Given the description of an element on the screen output the (x, y) to click on. 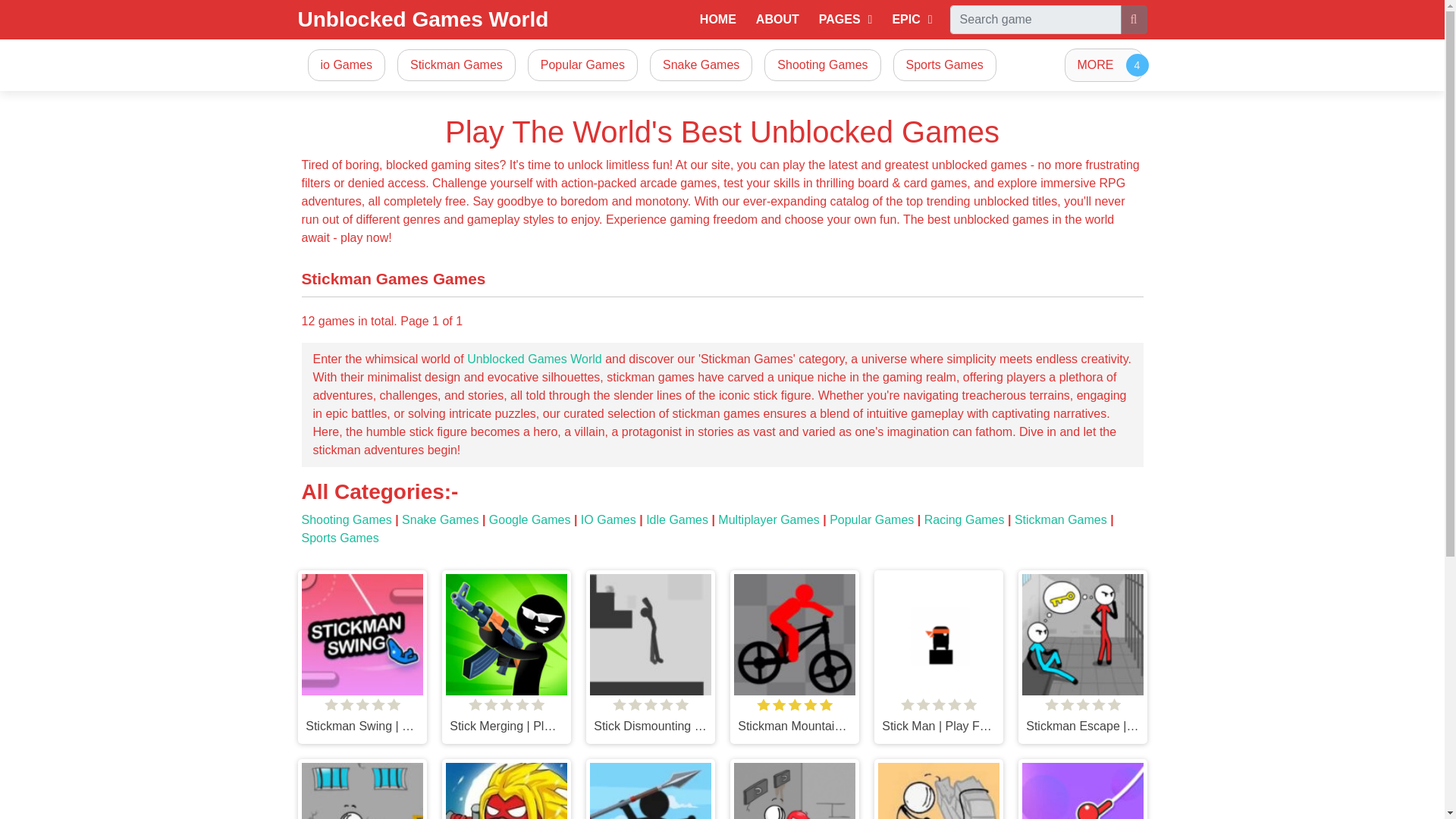
Racing Games (964, 519)
Snake Games (440, 519)
Google Games (529, 519)
Stickman Games (1060, 519)
Shooting Games (822, 64)
HOME (718, 19)
Unblocked Games World (422, 19)
Sports Games (339, 537)
Popular Games (582, 64)
EPIC (911, 19)
Idle Games (676, 519)
IO Games (608, 519)
MORE (1103, 64)
Unblocked Games World (422, 19)
Unblocked Games World (534, 358)
